Given the description of an element on the screen output the (x, y) to click on. 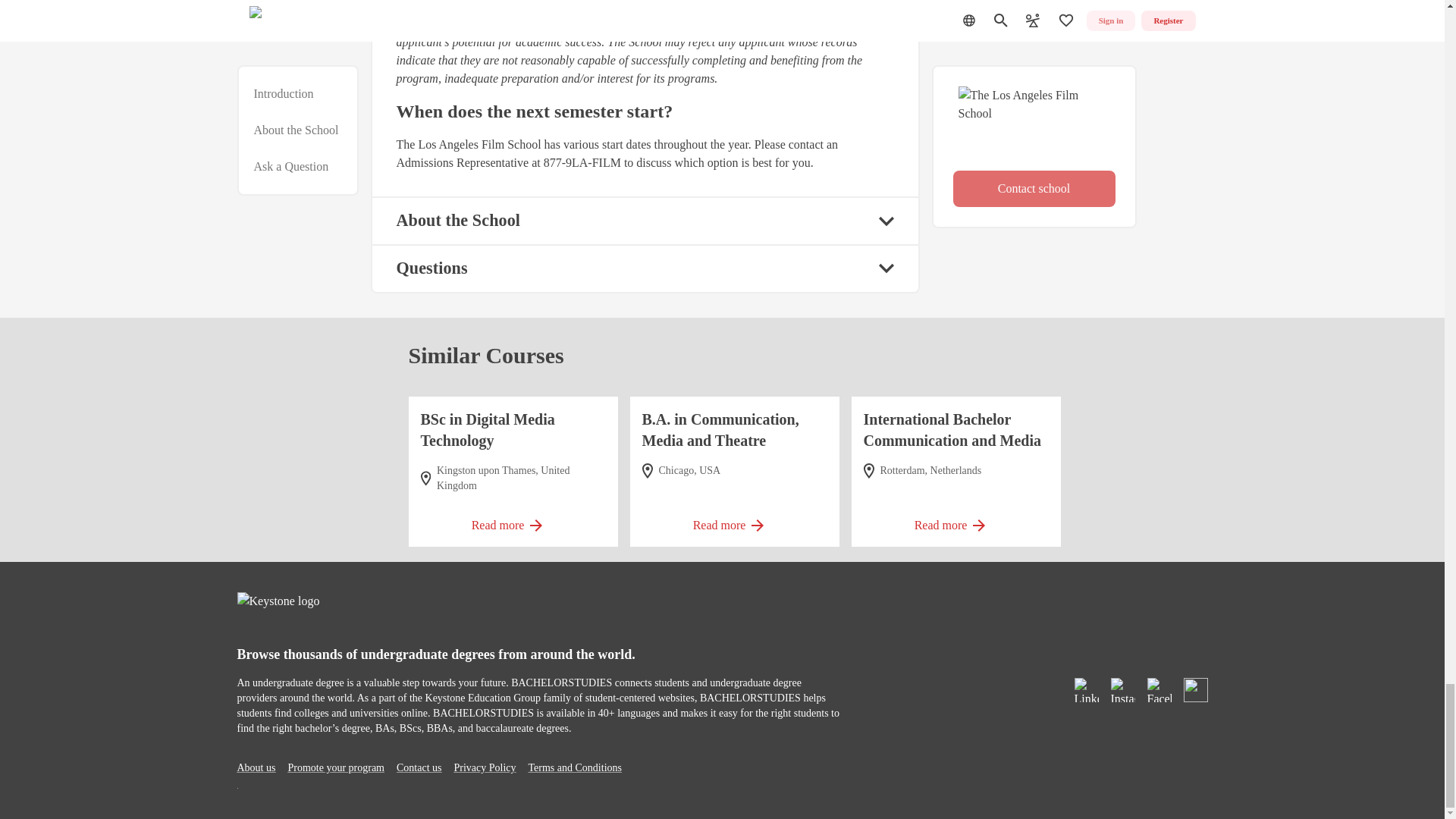
Read more (955, 520)
Promote your program (335, 767)
Read more (734, 520)
Read more (512, 520)
About us (255, 767)
